Given the description of an element on the screen output the (x, y) to click on. 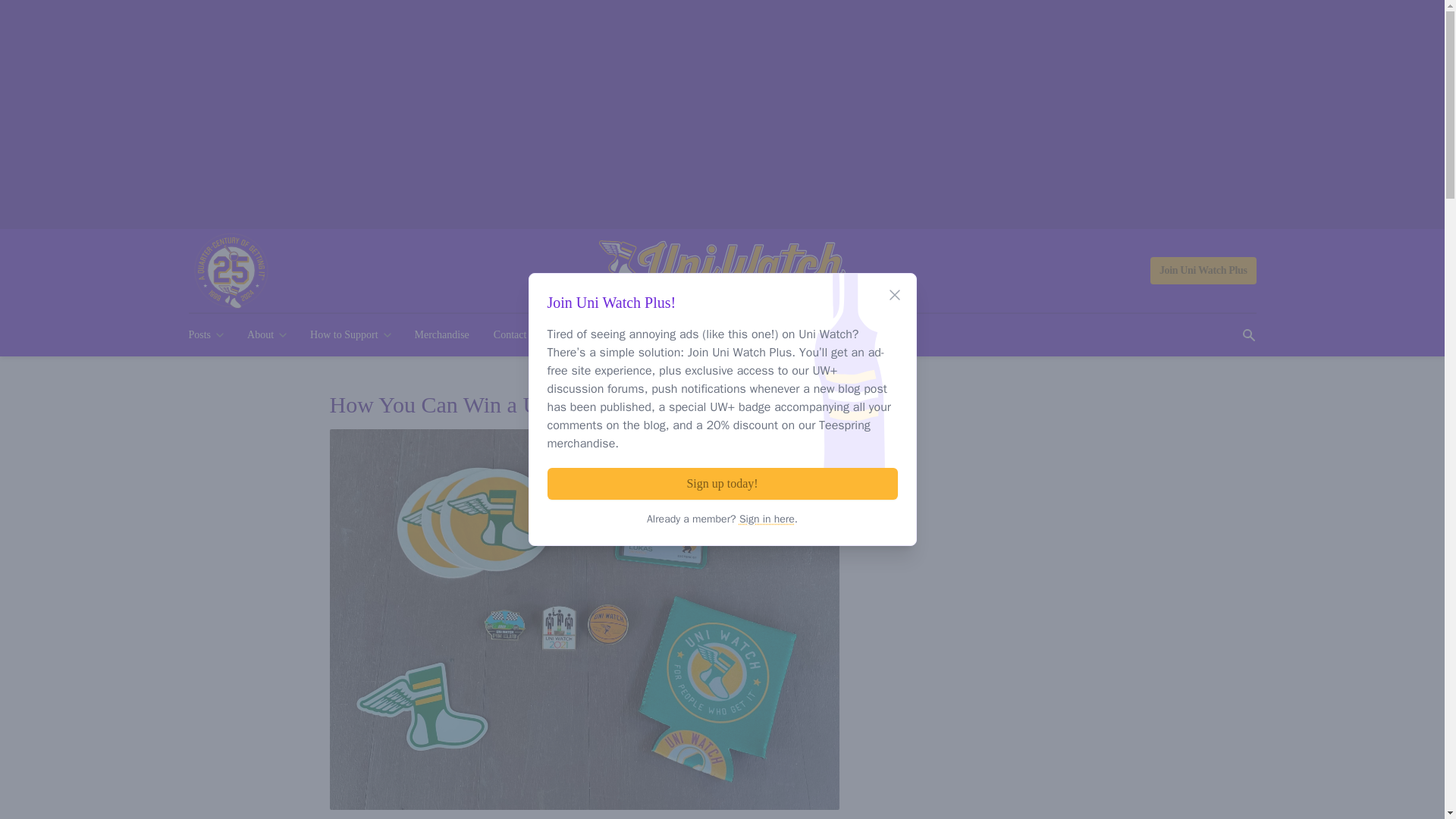
Close (894, 294)
Sign in here (766, 518)
Sign up today! (722, 483)
Uni Watch (721, 270)
Uni Watch (721, 270)
Join Uni Watch Plus (1203, 270)
